Given the description of an element on the screen output the (x, y) to click on. 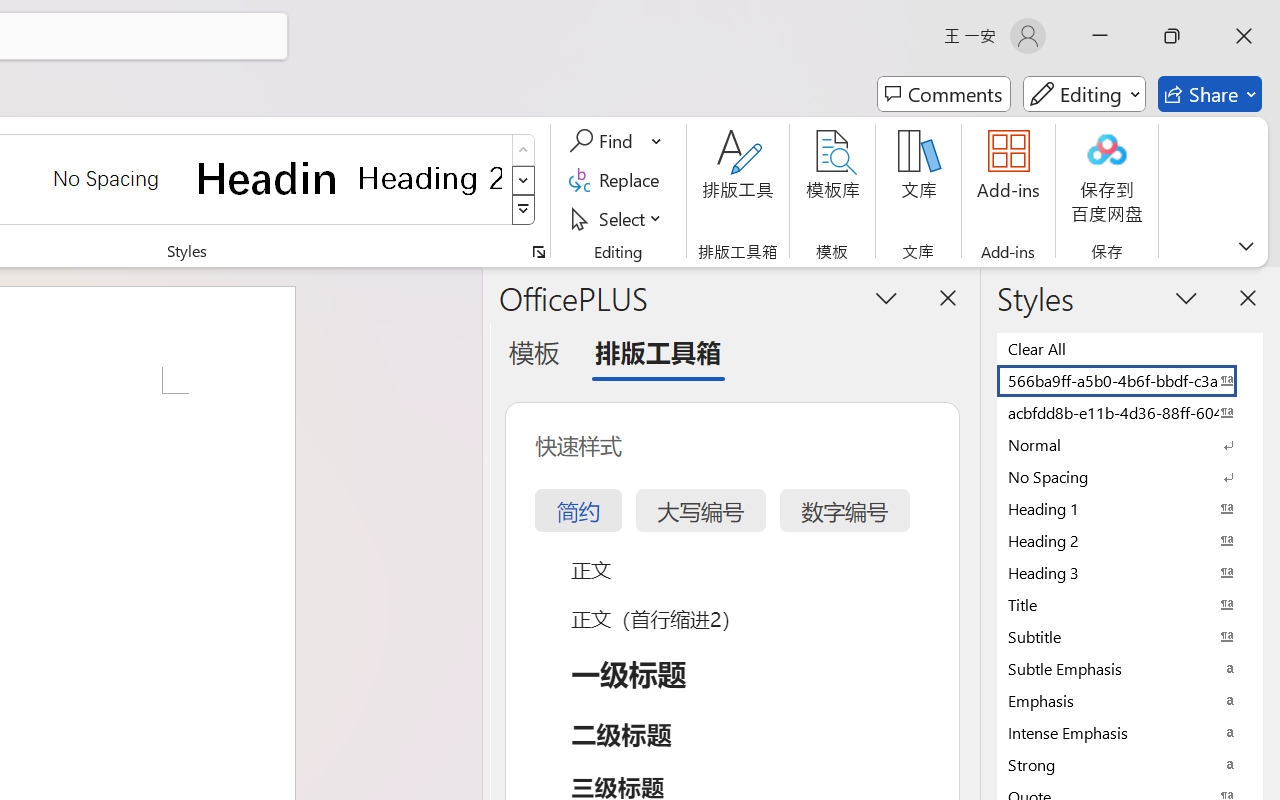
Mode (1083, 94)
Normal (1130, 444)
Comments (943, 94)
